Given the description of an element on the screen output the (x, y) to click on. 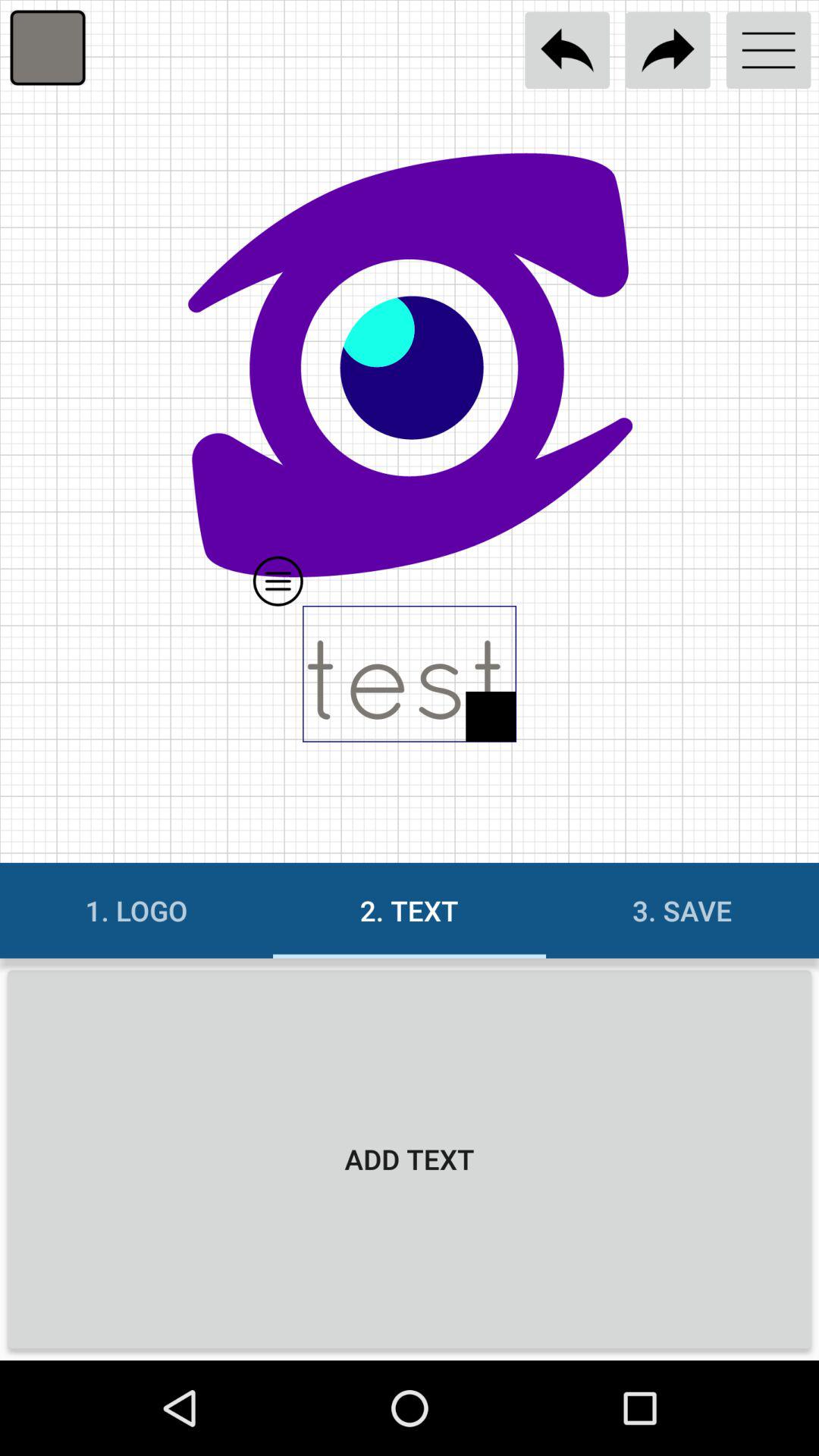
undo changes (566, 50)
